Given the description of an element on the screen output the (x, y) to click on. 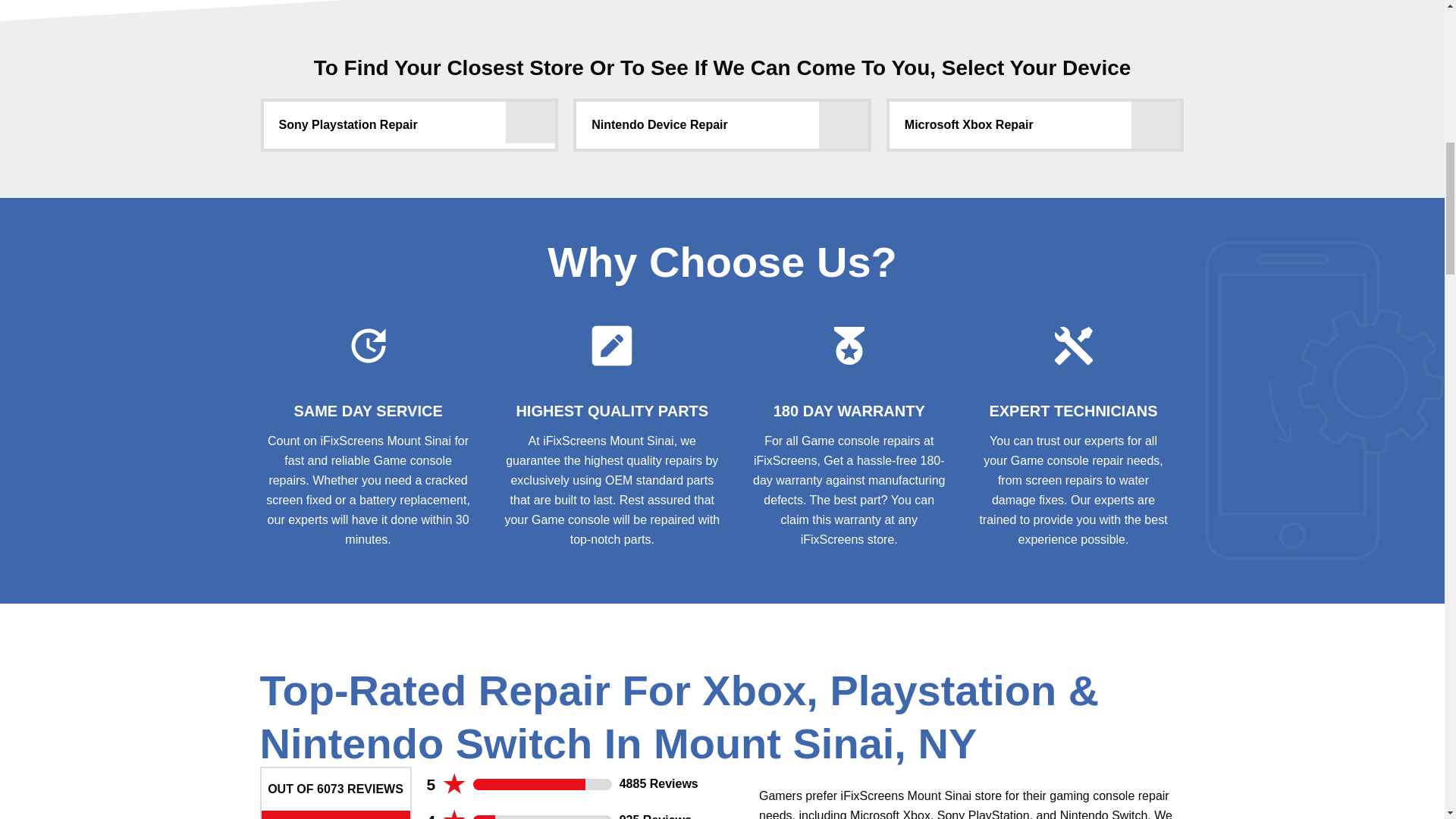
Sony Playstation Repair (529, 118)
Nintendo Device Repair (721, 124)
Sony Playstation Repair (409, 124)
Microsoft Xbox Repair (1155, 124)
Nintendo Device Repair (842, 124)
